Given the description of an element on the screen output the (x, y) to click on. 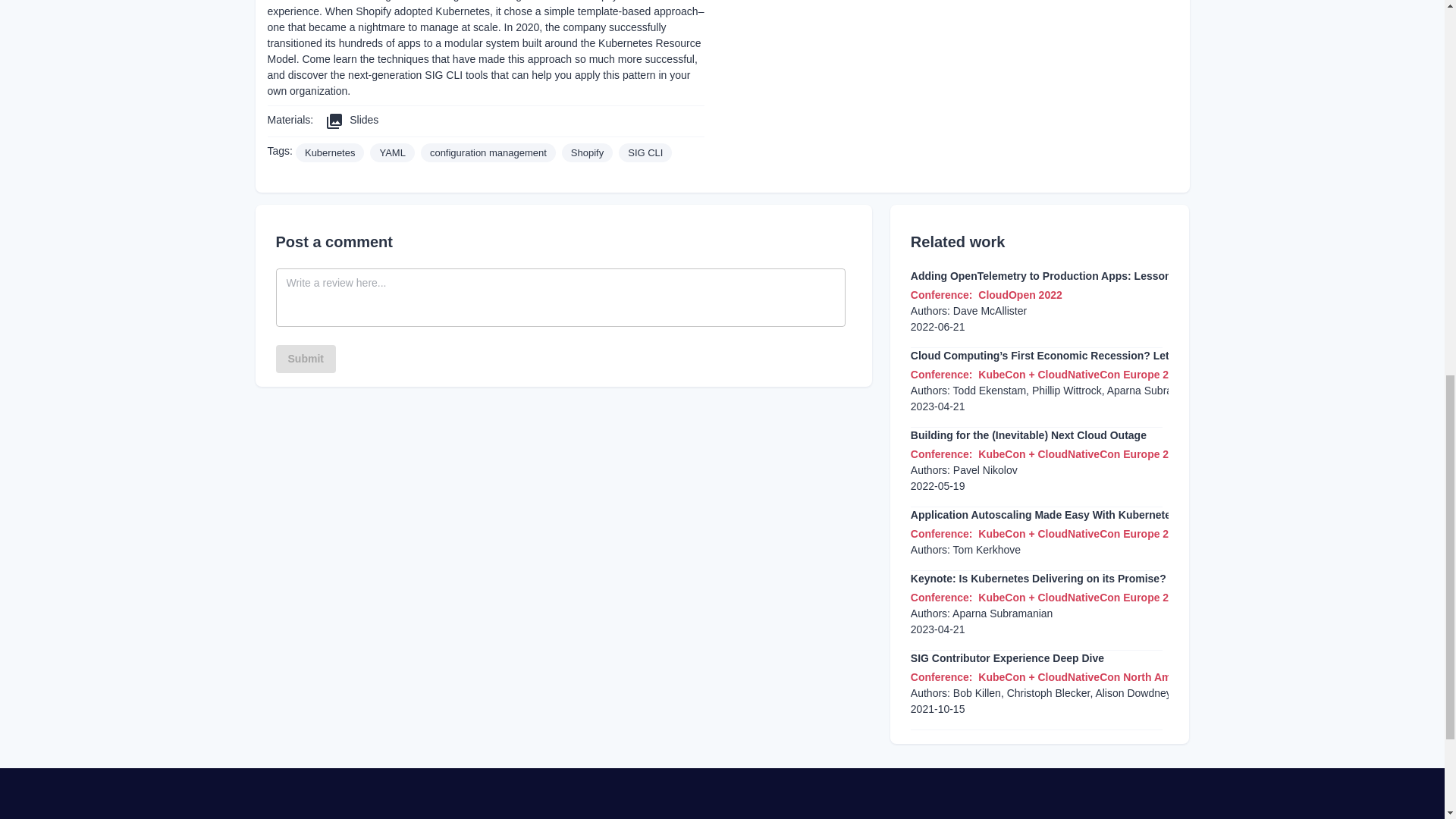
Adding OpenTelemetry to Production Apps: Lessons Learned  (1066, 276)
SIG Contributor Experience Deep Dive  (1007, 658)
Submit (306, 358)
CloudOpen 2022 (1019, 295)
Slides (351, 121)
SIG CLI (644, 152)
Adding OpenTelemetry to Production Apps: Lessons Learned (1066, 276)
YAML (391, 152)
configuration management (488, 152)
Kubernetes (329, 152)
SIG Contributor Experience Deep Dive (1007, 658)
Shopify (587, 152)
